Given the description of an element on the screen output the (x, y) to click on. 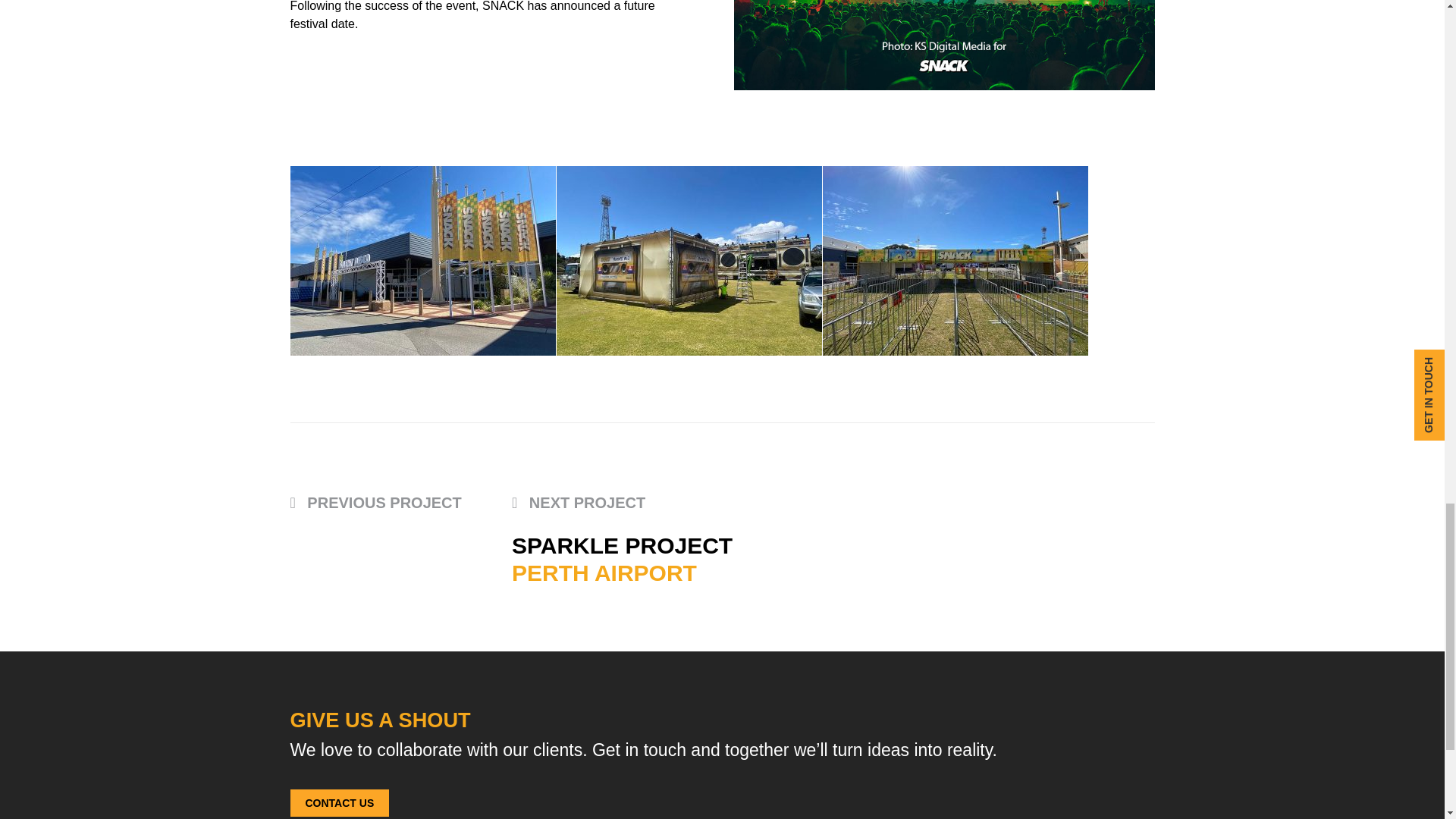
event signage perth (954, 260)
banner poles festival (421, 260)
KS Digital Media copy (943, 45)
festival banners perth (689, 260)
